Given the description of an element on the screen output the (x, y) to click on. 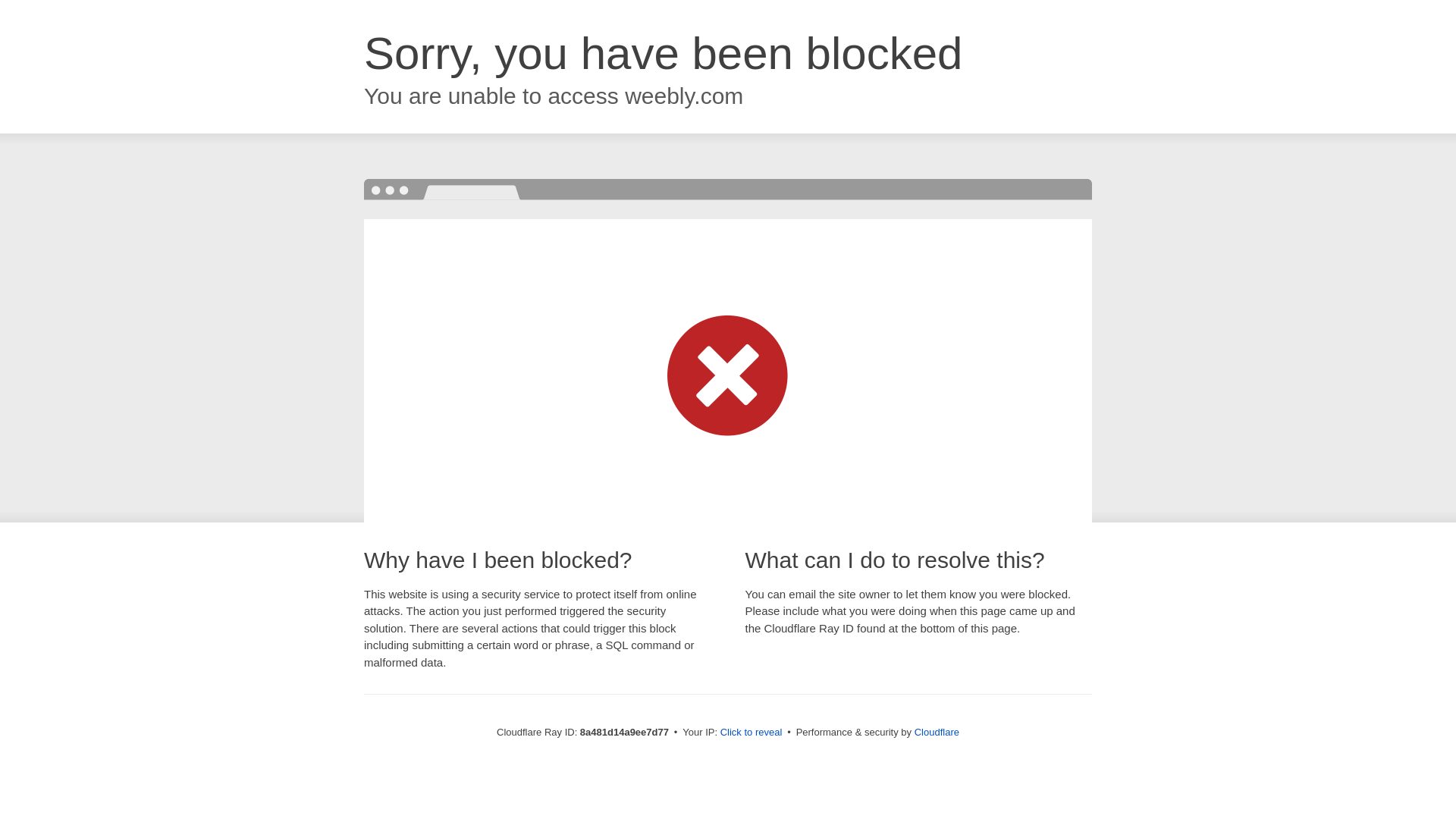
Cloudflare (936, 731)
Click to reveal (751, 732)
